Given the description of an element on the screen output the (x, y) to click on. 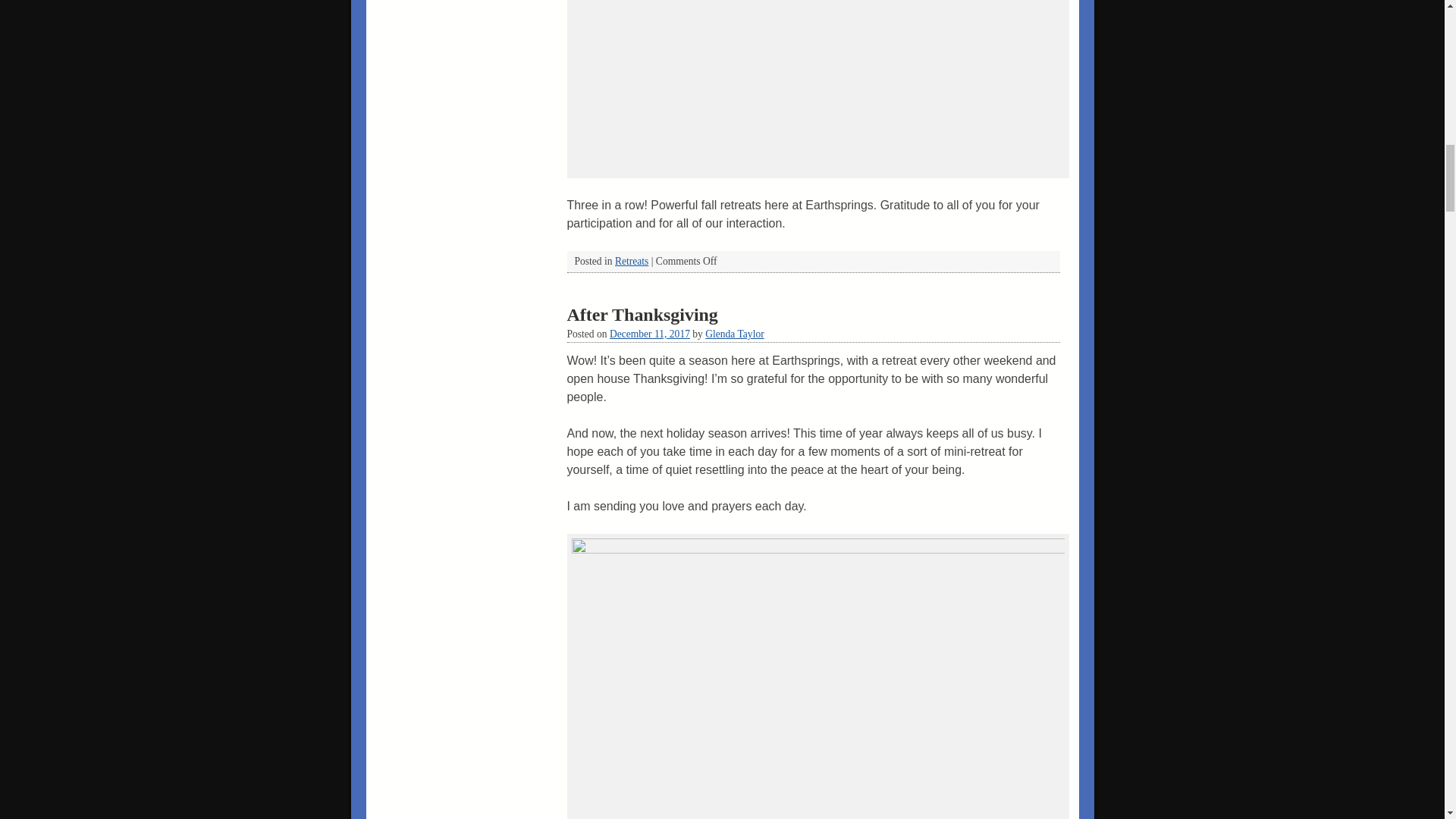
View all posts by Glenda Taylor (733, 333)
Glenda Taylor (733, 333)
December 11, 2017 (650, 333)
Permalink to After Thanksgiving (642, 314)
Retreats (630, 260)
6:42 pm (650, 333)
After Thanksgiving (642, 314)
